Given the description of an element on the screen output the (x, y) to click on. 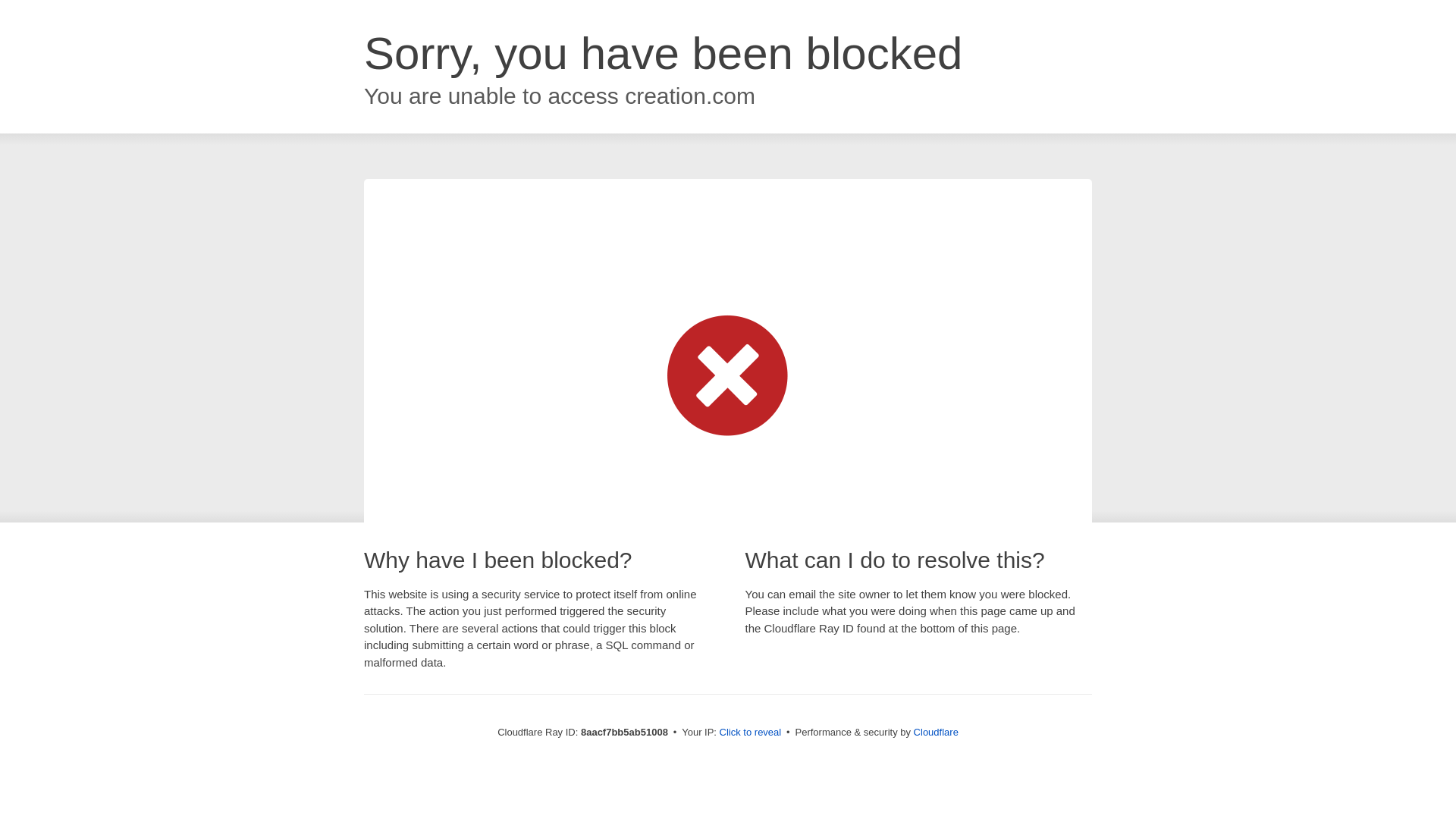
Cloudflare (936, 731)
Click to reveal (750, 732)
